Given the description of an element on the screen output the (x, y) to click on. 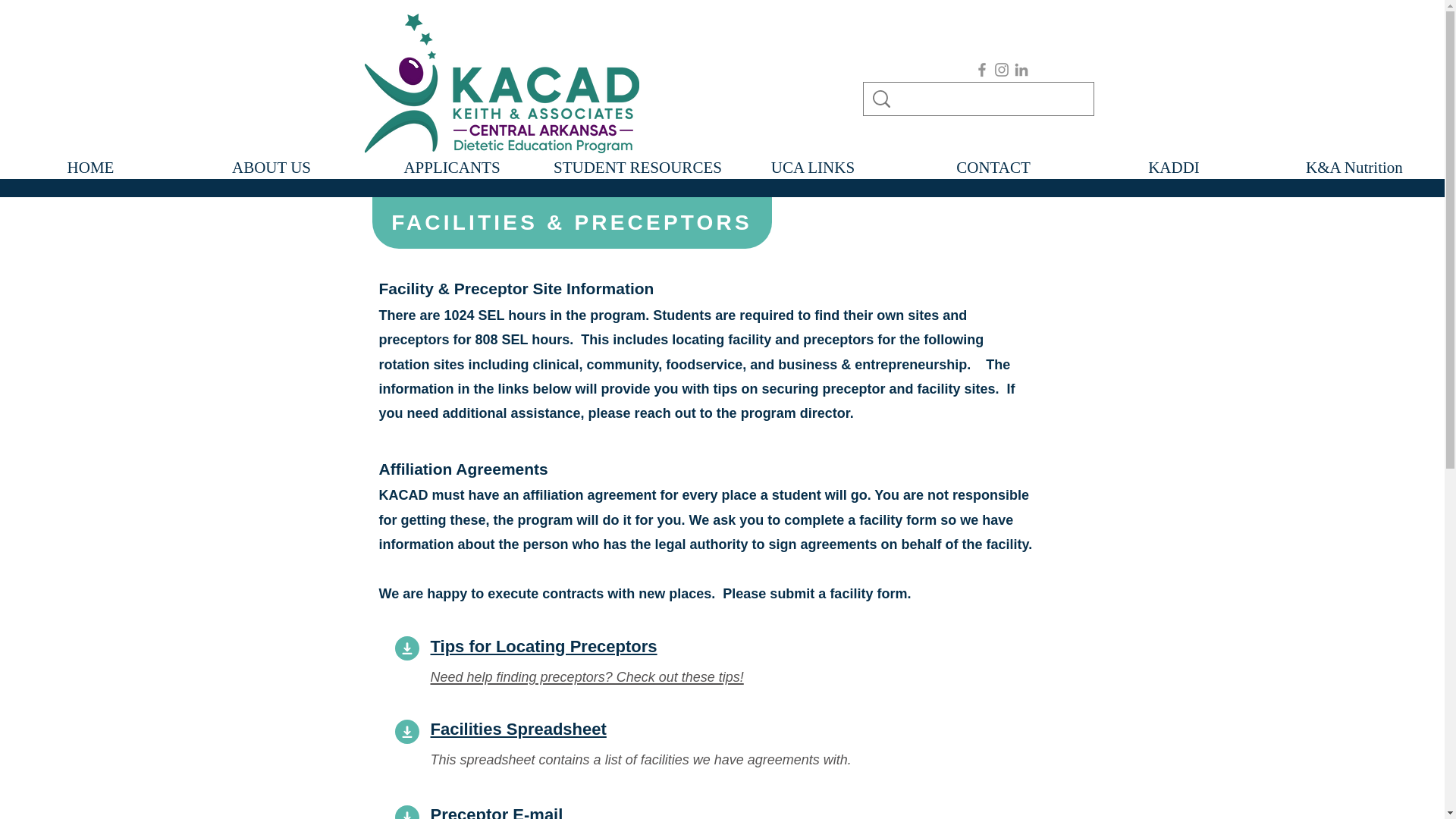
UCA LINKS (812, 166)
KADDI (1173, 166)
HOME (90, 166)
CONTACT (992, 166)
